Given the description of an element on the screen output the (x, y) to click on. 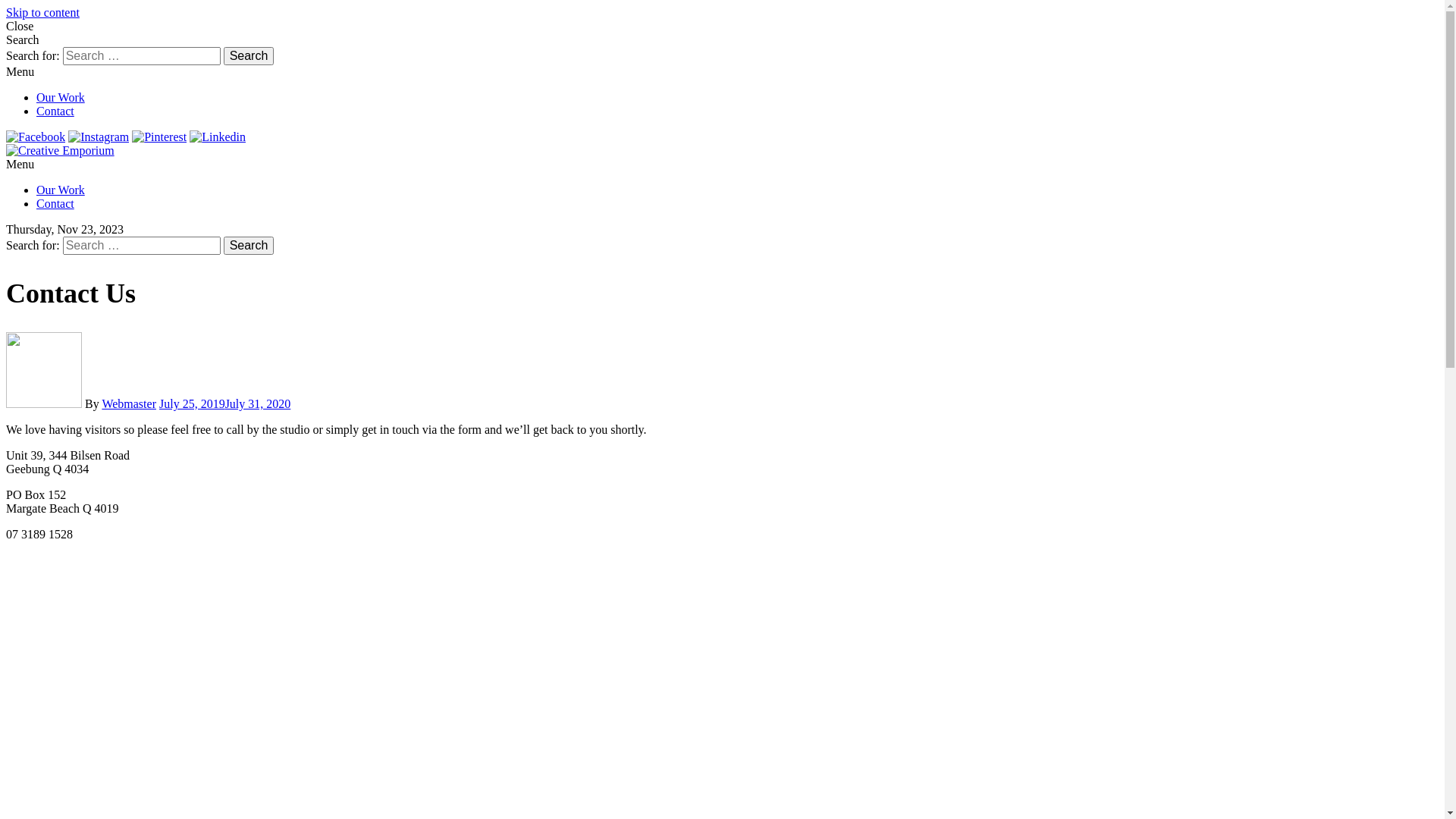
Webmaster Element type: text (128, 403)
Our Work Element type: text (60, 97)
Contact Element type: text (55, 203)
Search Element type: text (248, 245)
Search Element type: text (248, 56)
July 25, 2019July 31, 2020 Element type: text (224, 403)
Skip to content Element type: text (42, 12)
Our Work Element type: text (60, 189)
Creative Emporium Element type: text (162, 150)
Contact Element type: text (55, 110)
